Given the description of an element on the screen output the (x, y) to click on. 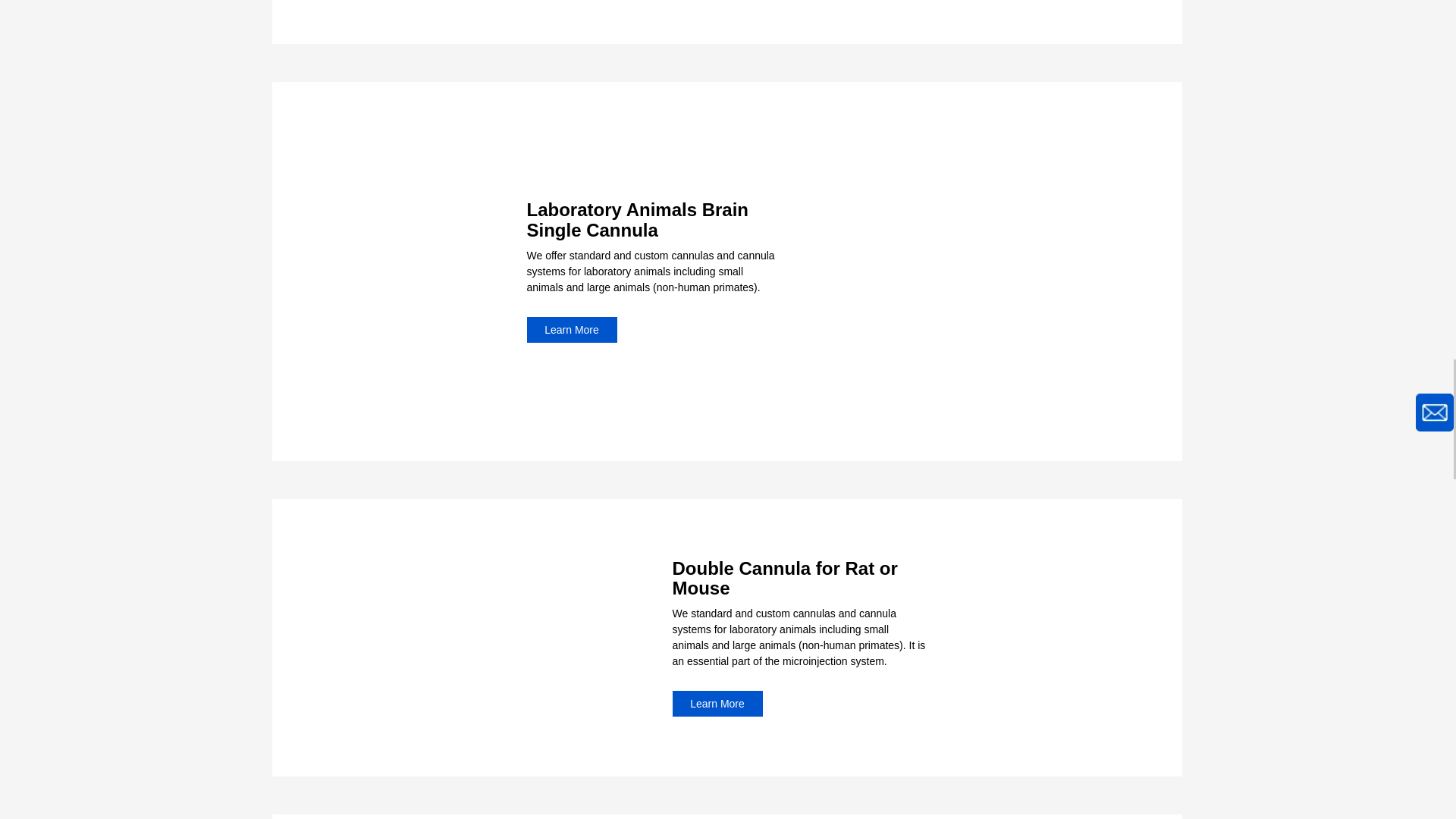
Learn More (570, 329)
Learn More (716, 703)
